Given the description of an element on the screen output the (x, y) to click on. 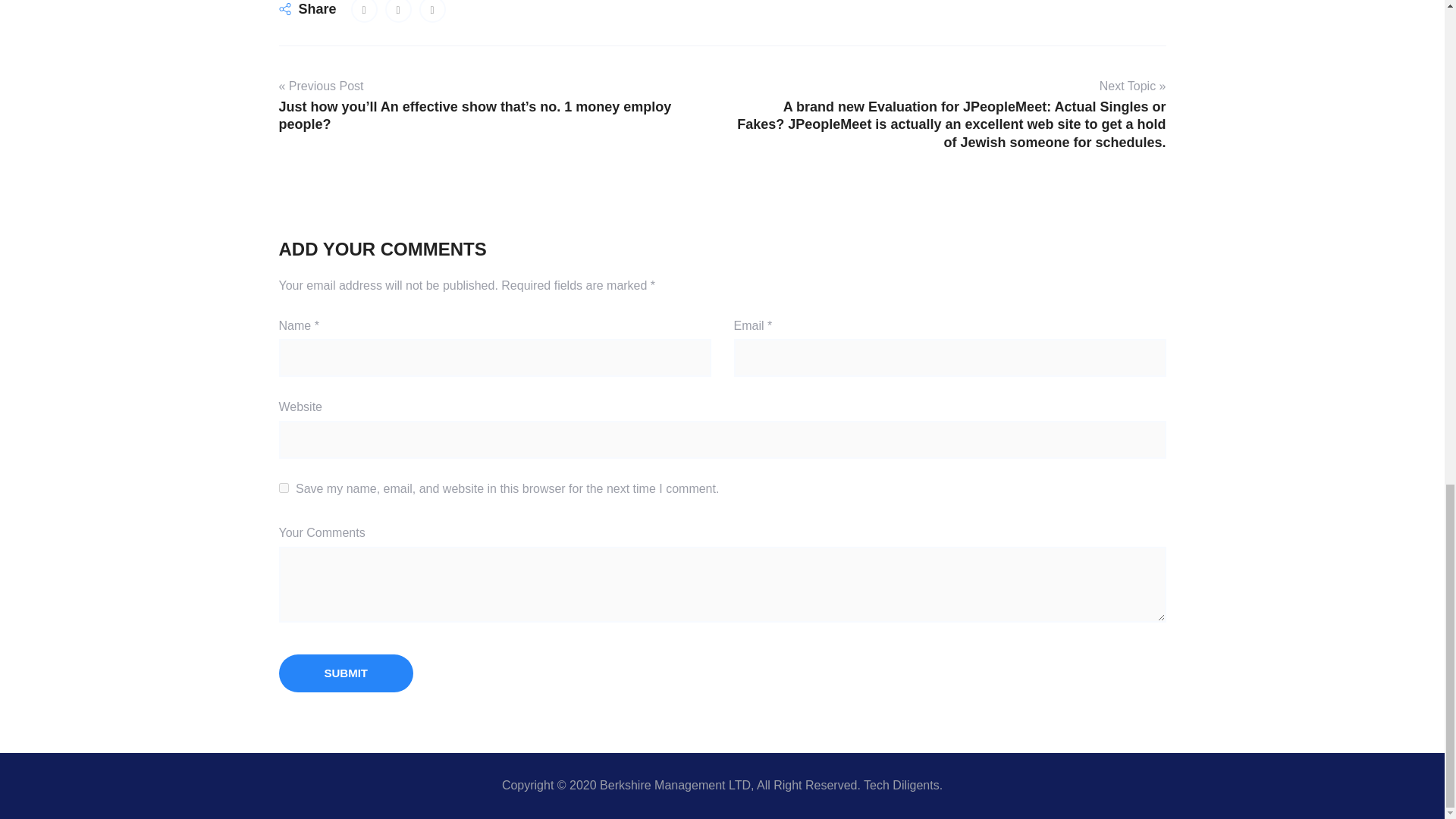
Submit (346, 673)
Tech Diligents. (902, 784)
Submit (346, 673)
yes (283, 488)
